Given the description of an element on the screen output the (x, y) to click on. 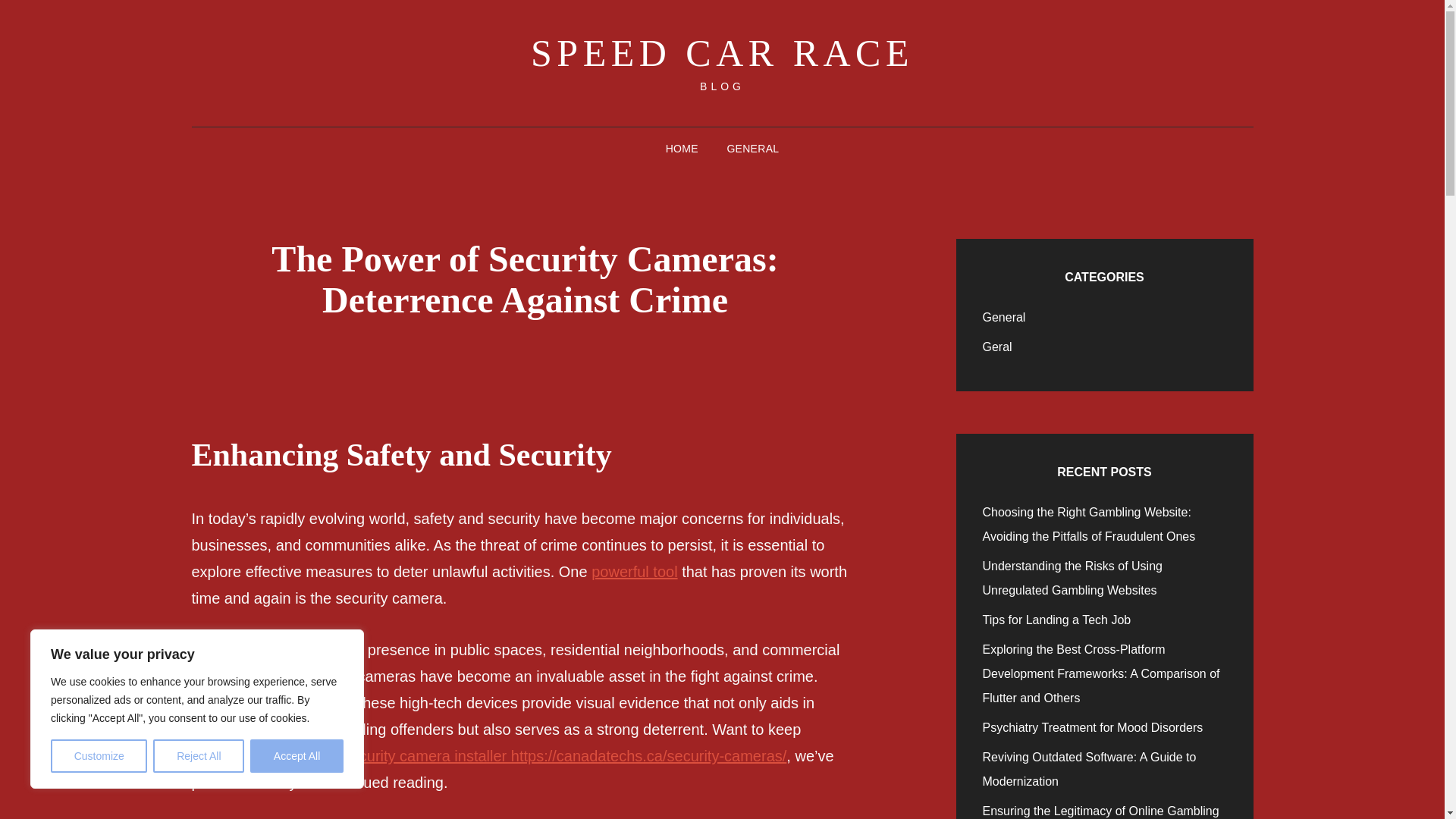
Psychiatry Treatment for Mood Disorders (1093, 727)
powerful tool (634, 571)
SPEED CAR RACE (722, 52)
Accept All (296, 756)
GENERAL (752, 148)
Customize (98, 756)
Reviving Outdated Software: A Guide to Modernization (1089, 769)
HOME (681, 148)
